Given the description of an element on the screen output the (x, y) to click on. 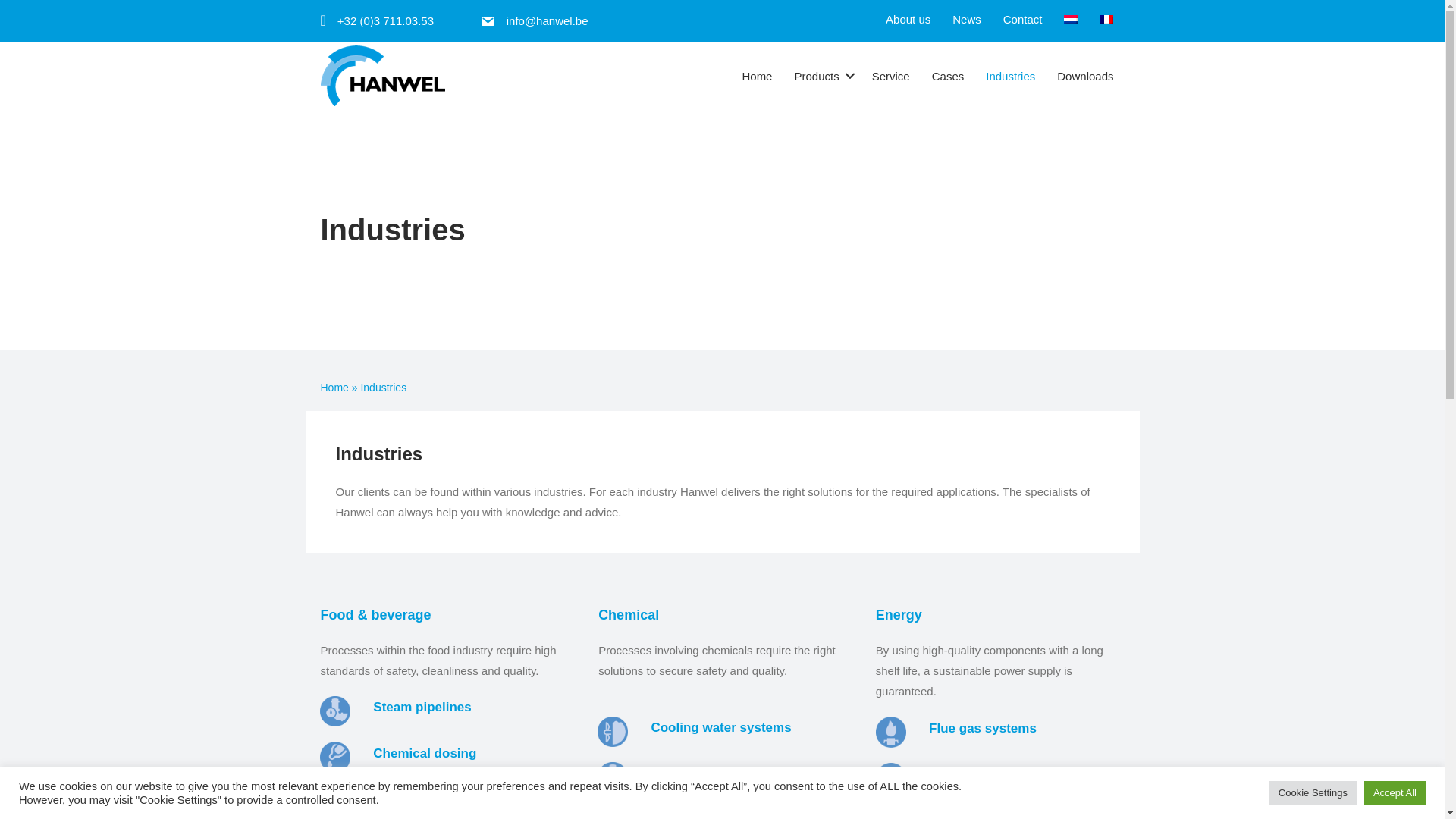
Contact (1022, 19)
Products (821, 75)
Home (756, 75)
Logo (382, 75)
About us (907, 19)
News (966, 19)
